Given the description of an element on the screen output the (x, y) to click on. 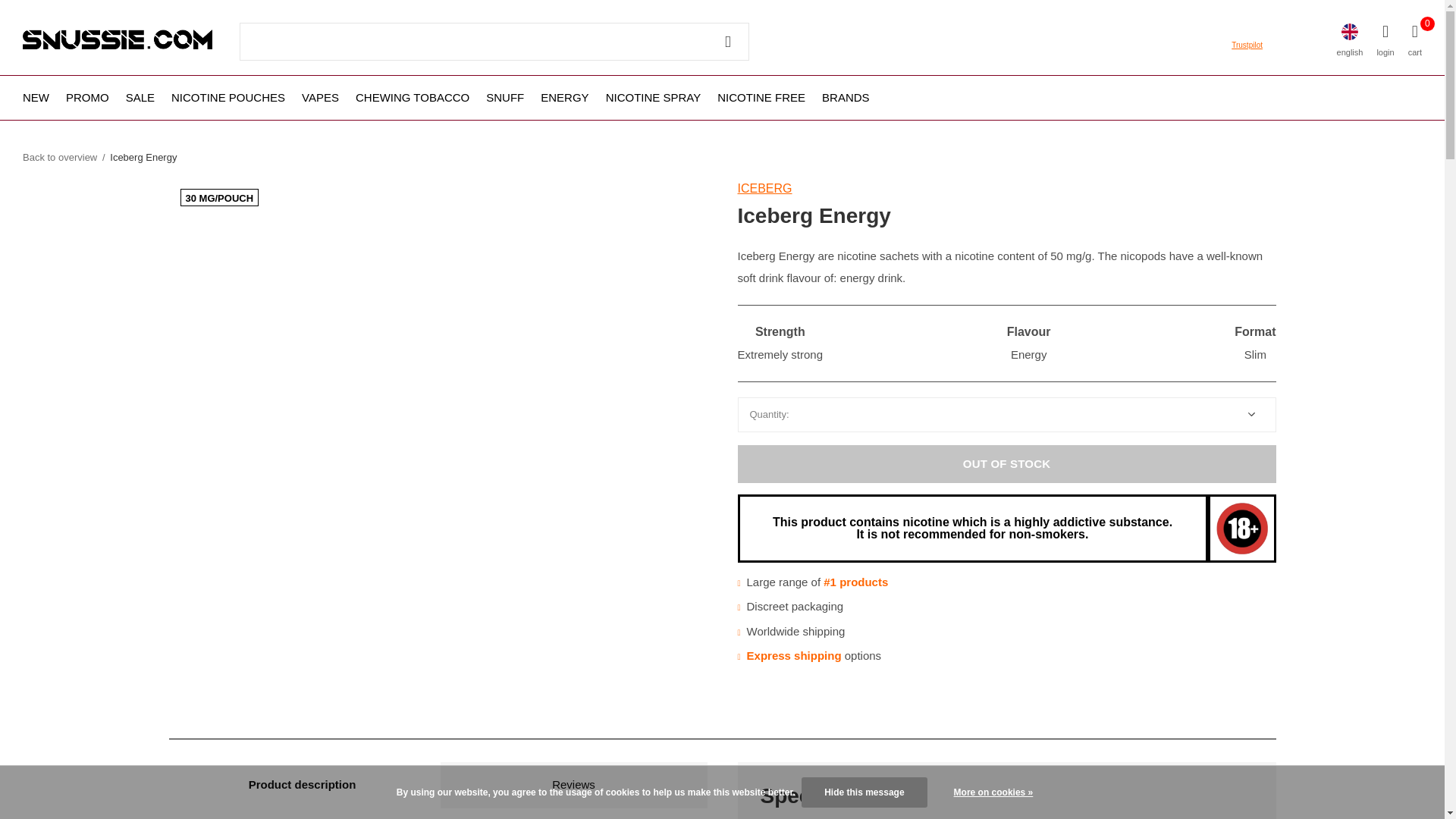
ICEBERG (764, 187)
